Given the description of an element on the screen output the (x, y) to click on. 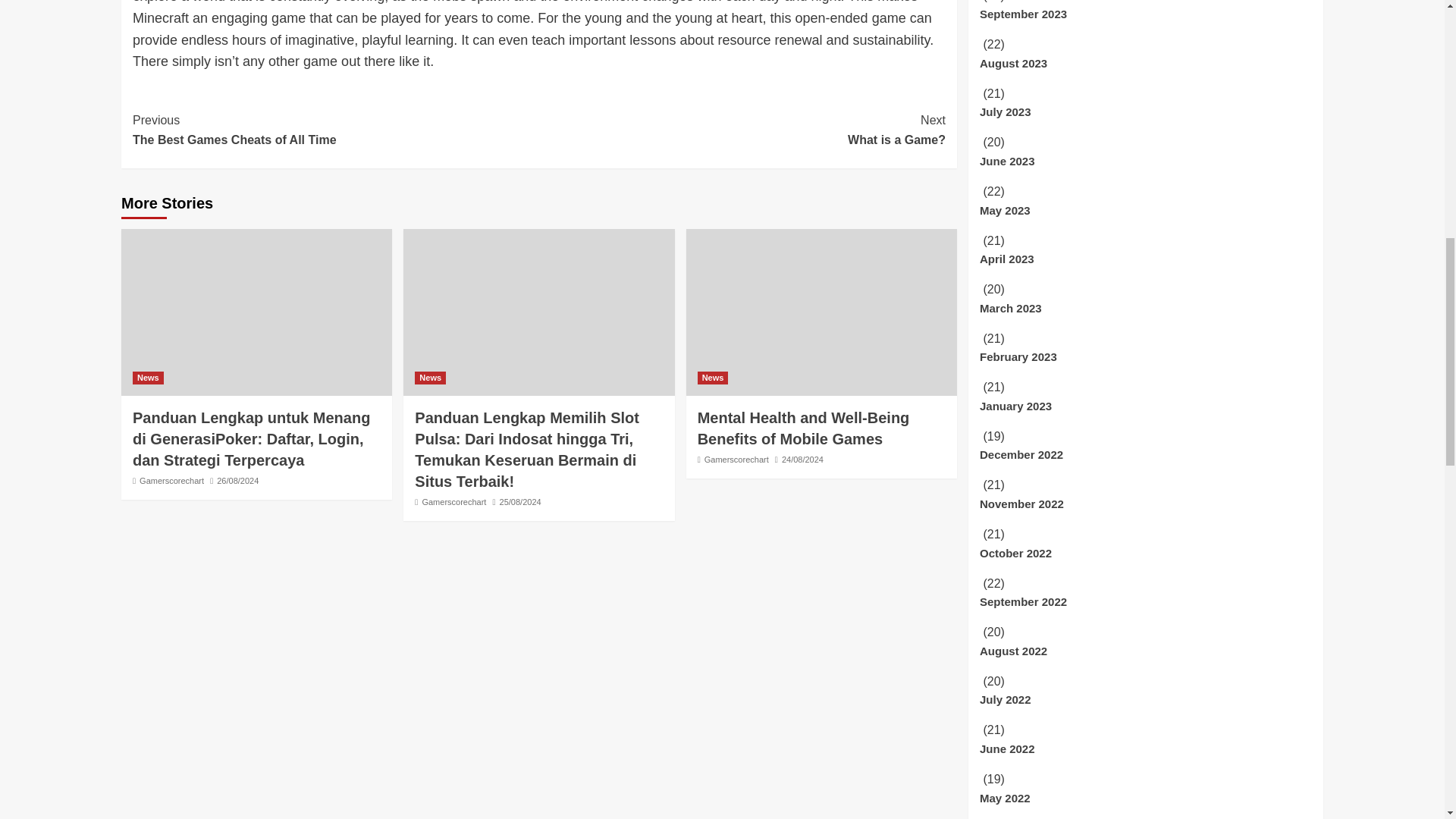
News (147, 377)
Gamerscorechart (335, 129)
News (454, 501)
News (713, 377)
Gamerscorechart (741, 129)
Mental Health and Well-Being Benefits of Mobile Games (429, 377)
